Given the description of an element on the screen output the (x, y) to click on. 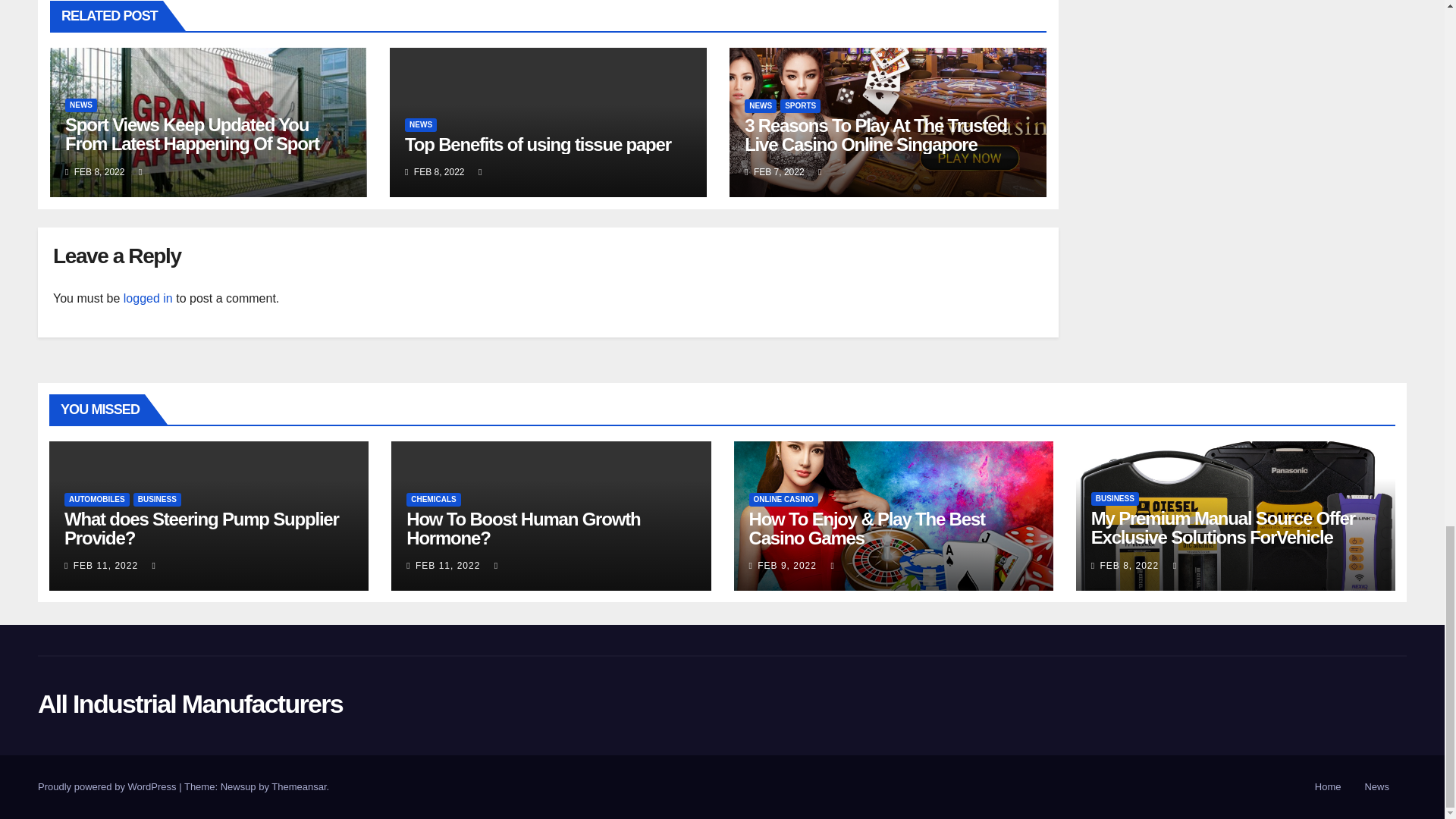
NEWS (81, 105)
Home (1328, 786)
Permalink to: How To Boost Human Growth Hormone? (523, 527)
Permalink to: What does Steering Pump Supplier Provide? (201, 527)
Permalink to: Top Benefits of using tissue paper (537, 144)
NEWS (420, 124)
